Given the description of an element on the screen output the (x, y) to click on. 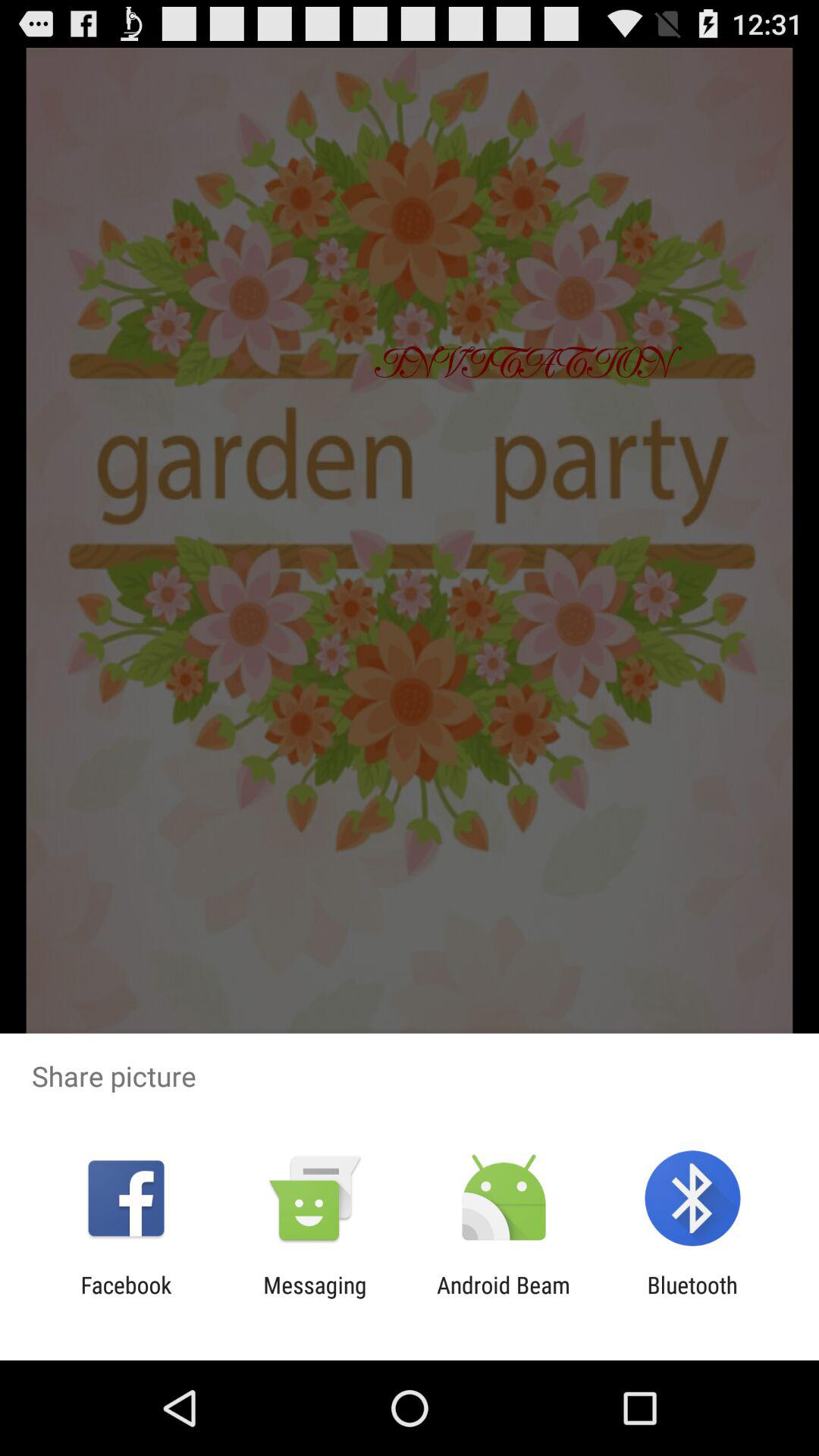
click the messaging (314, 1298)
